Given the description of an element on the screen output the (x, y) to click on. 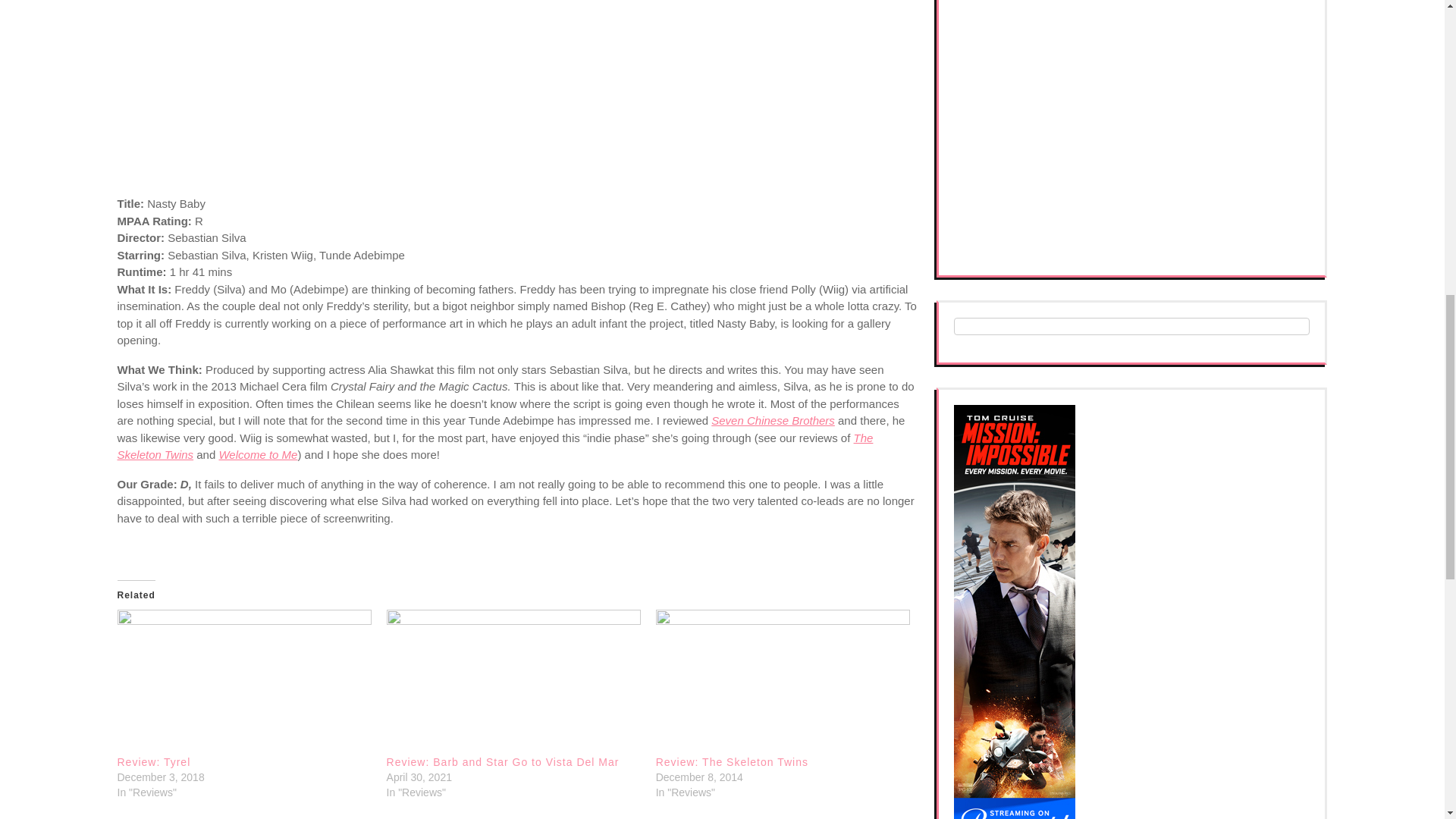
The Skeleton Twins (494, 446)
Seven Chinese Brothers (772, 420)
Review: The Skeleton Twins (732, 761)
Review: Tyrel (243, 681)
Review: Barb and Star Go to Vista Del Mar (503, 761)
Review: Tyrel (153, 761)
Review: Tyrel (153, 761)
Welcome to Me (257, 454)
Review: Barb and Star Go to Vista Del Mar (513, 681)
Review: The Skeleton Twins (732, 761)
